Given the description of an element on the screen output the (x, y) to click on. 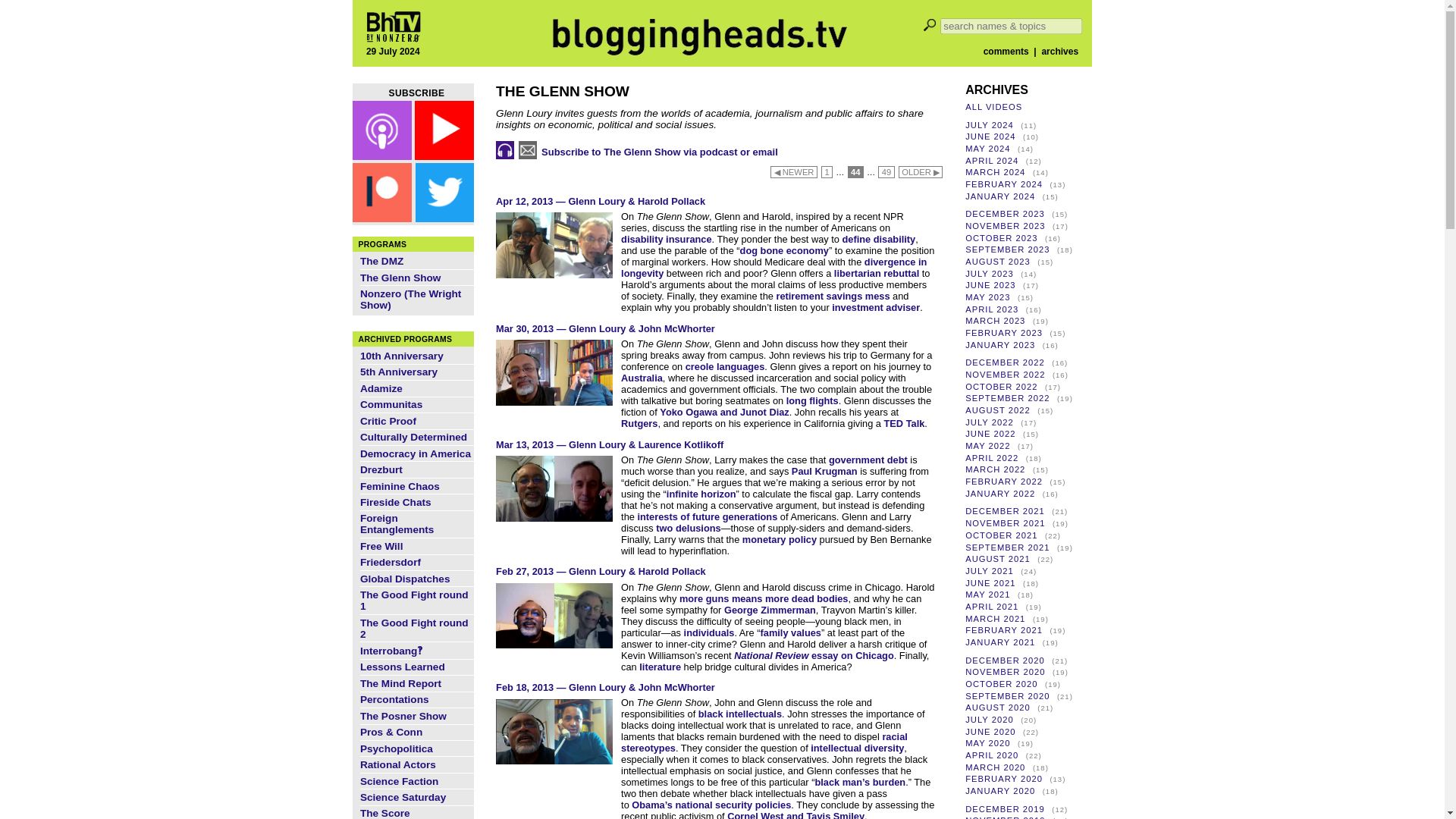
comments (1006, 50)
Psychopolitica (395, 748)
The Glenn Show (400, 277)
subscibe to Patreon (413, 248)
The Good Fight round 1 (413, 599)
Fireside Chats (394, 501)
Science Saturday (402, 797)
Drezburt (381, 469)
Critic Proof (387, 420)
Lessons Learned (402, 666)
Percontations (394, 699)
